Given the description of an element on the screen output the (x, y) to click on. 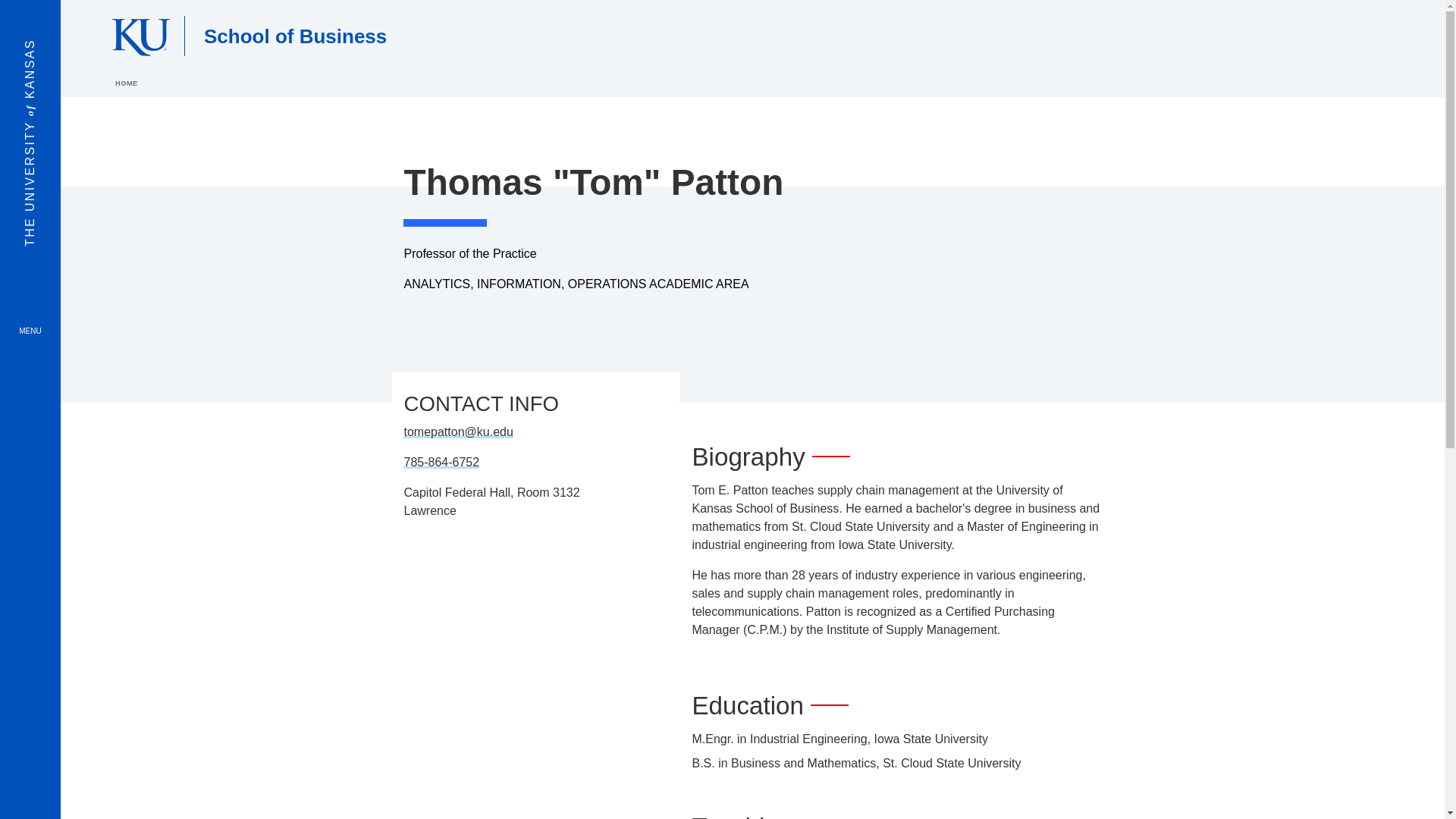
Call 785-864-6752 (441, 461)
